Given the description of an element on the screen output the (x, y) to click on. 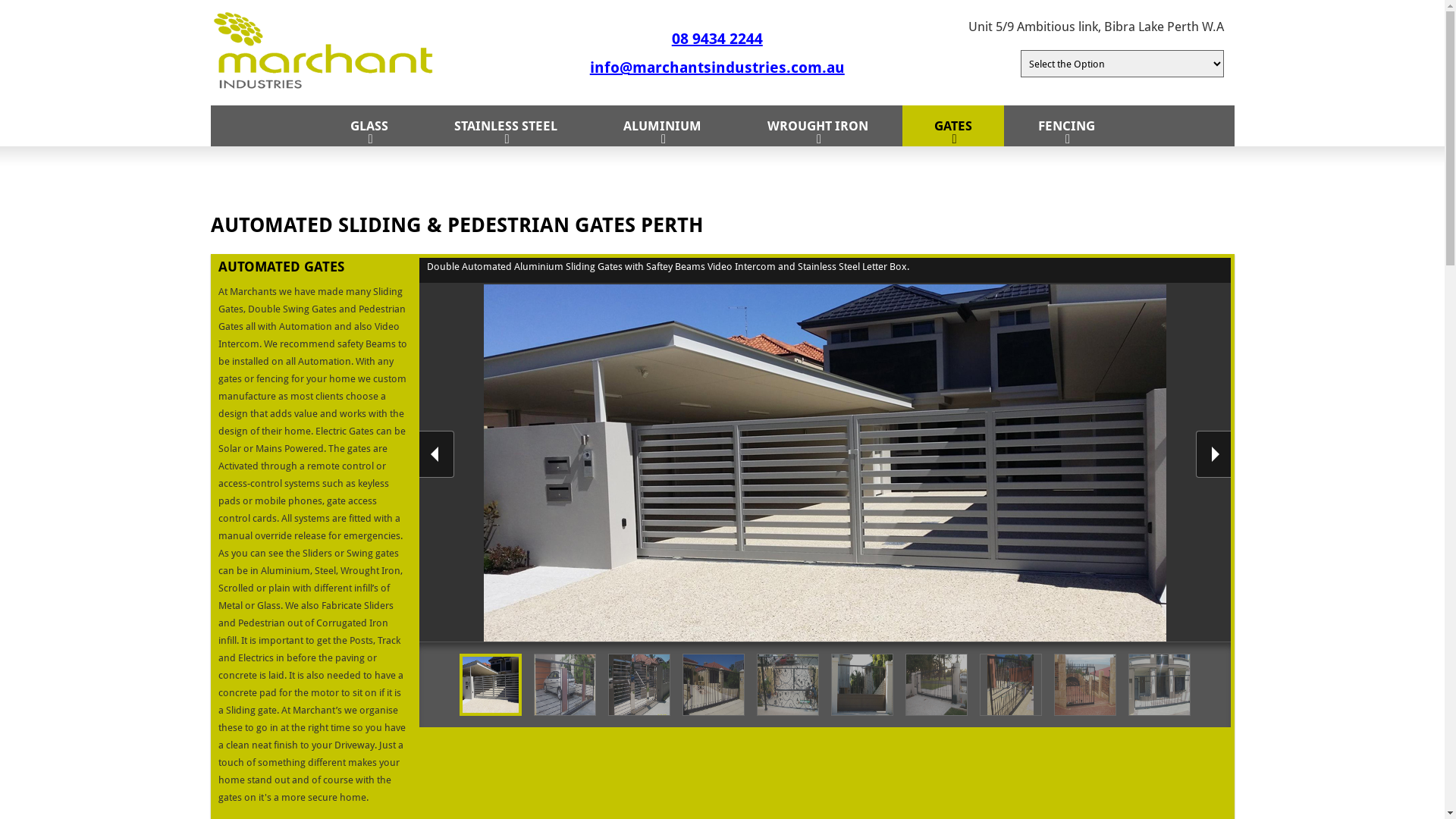
STAINLESS STEEL Element type: text (504, 125)
FENCING Element type: text (1065, 125)
GATES Element type: text (953, 125)
Sliding Gate with spears and Laser Cut Name out of Core Ten. Element type: hover (1085, 684)
08 9434 2244 Element type: text (716, 38)
WROUGHT IRON Element type: text (817, 125)
GLASS Element type: text (369, 125)
ALUMINIUM Element type: text (662, 125)
info@marchantsindustries.com.au Element type: text (716, 67)
